Given the description of an element on the screen output the (x, y) to click on. 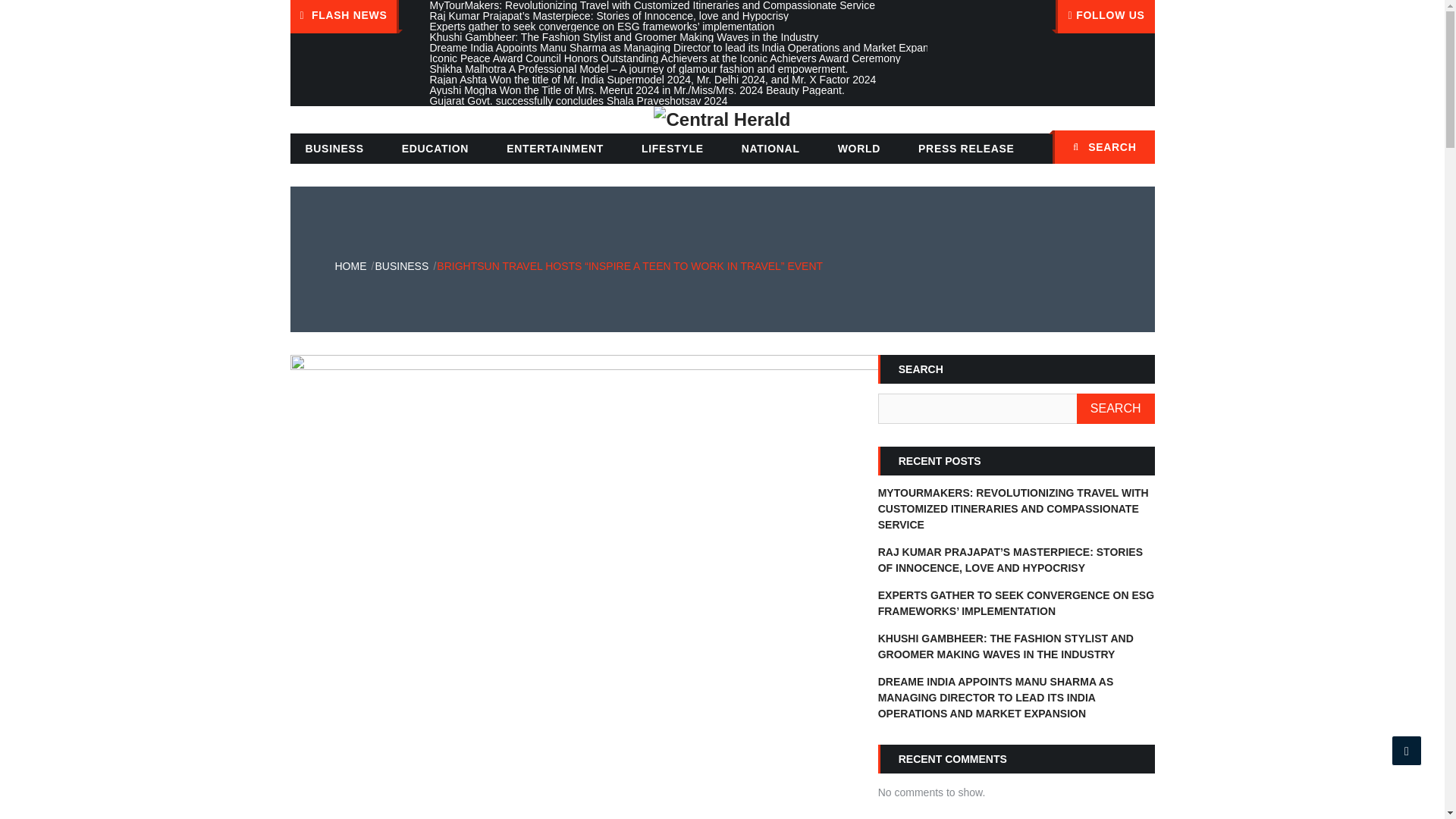
Go to Top (1406, 750)
LIFESTYLE (672, 148)
PRESS RELEASE (965, 148)
BUSINESS (401, 265)
SEARCH (1103, 146)
Search (1135, 148)
HOME (350, 265)
WORLD (858, 148)
NATIONAL (770, 148)
SEARCH (1115, 408)
EDUCATION (435, 148)
Search (1135, 148)
BUSINESS (333, 148)
